Given the description of an element on the screen output the (x, y) to click on. 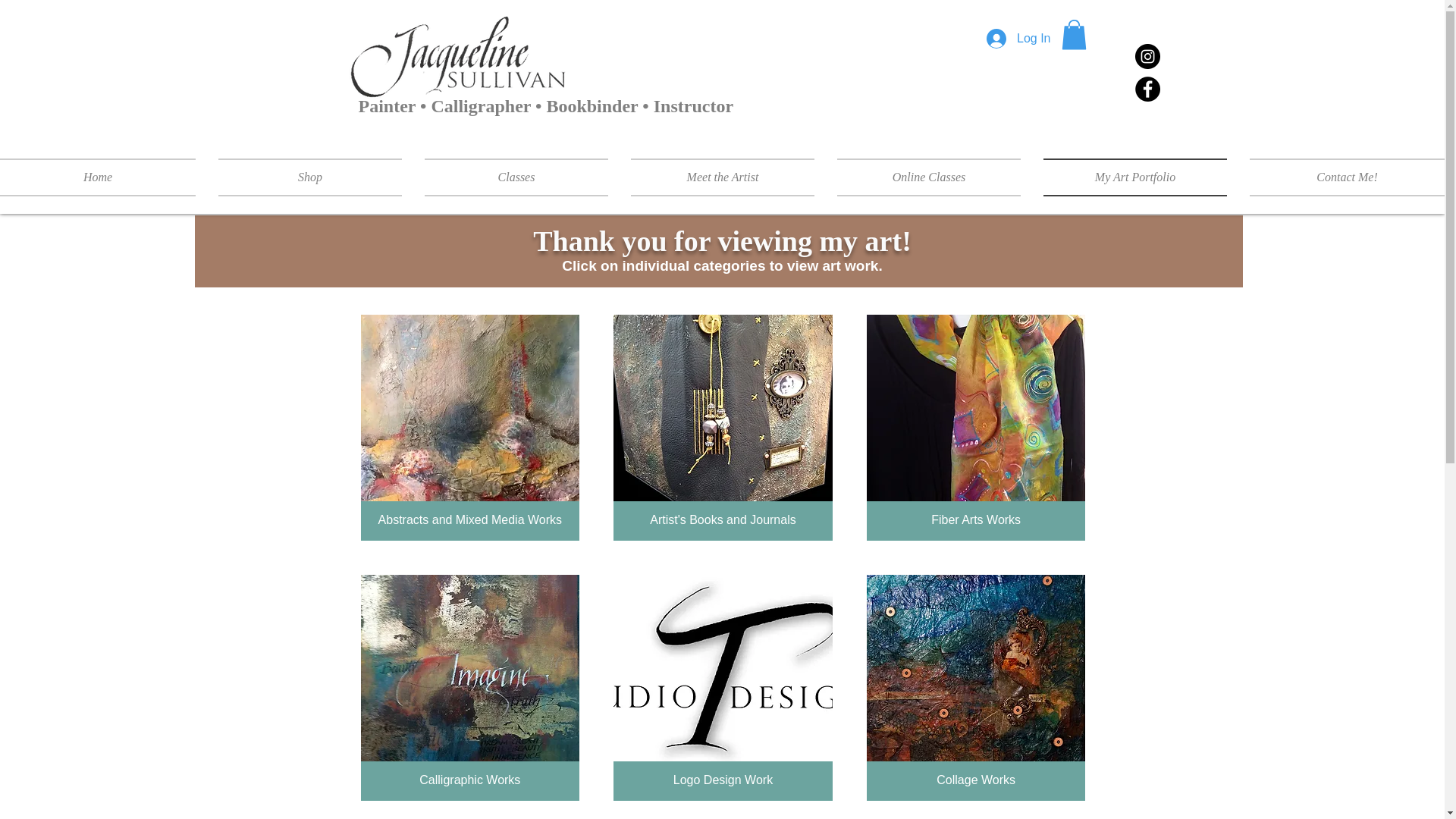
Log In (1018, 38)
Online Classes (928, 177)
My Art Portfolio (1135, 177)
Home (103, 177)
Logo Design Work (722, 687)
Calligraphic Works (470, 687)
Fiber Arts Works (976, 427)
Classes (516, 177)
Abstracts and Mixed Media Works (470, 427)
Meet the Artist (722, 177)
